Given the description of an element on the screen output the (x, y) to click on. 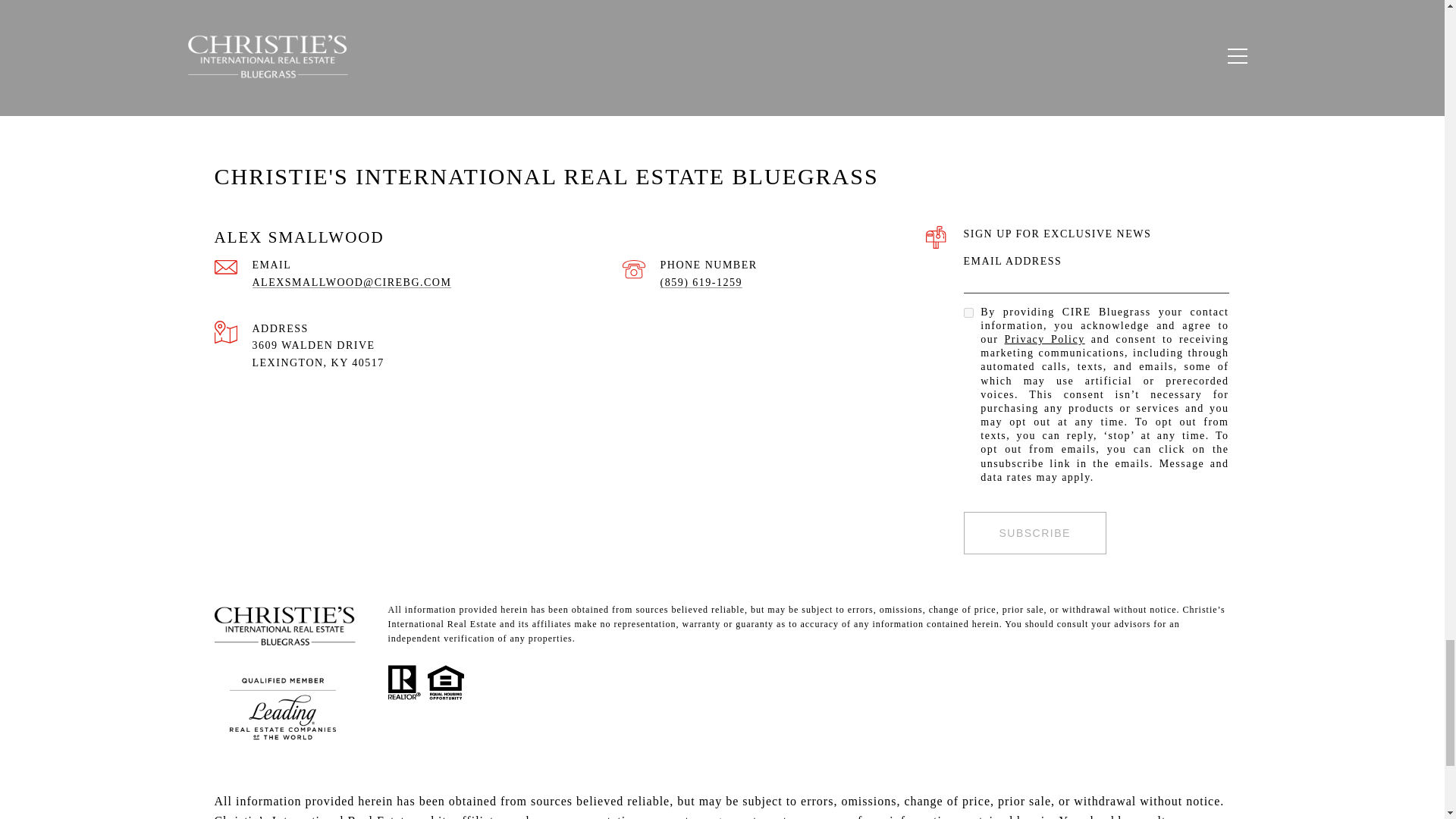
Privacy Policy (1044, 338)
SUBSCRIBE (1033, 532)
on (967, 312)
